Given the description of an element on the screen output the (x, y) to click on. 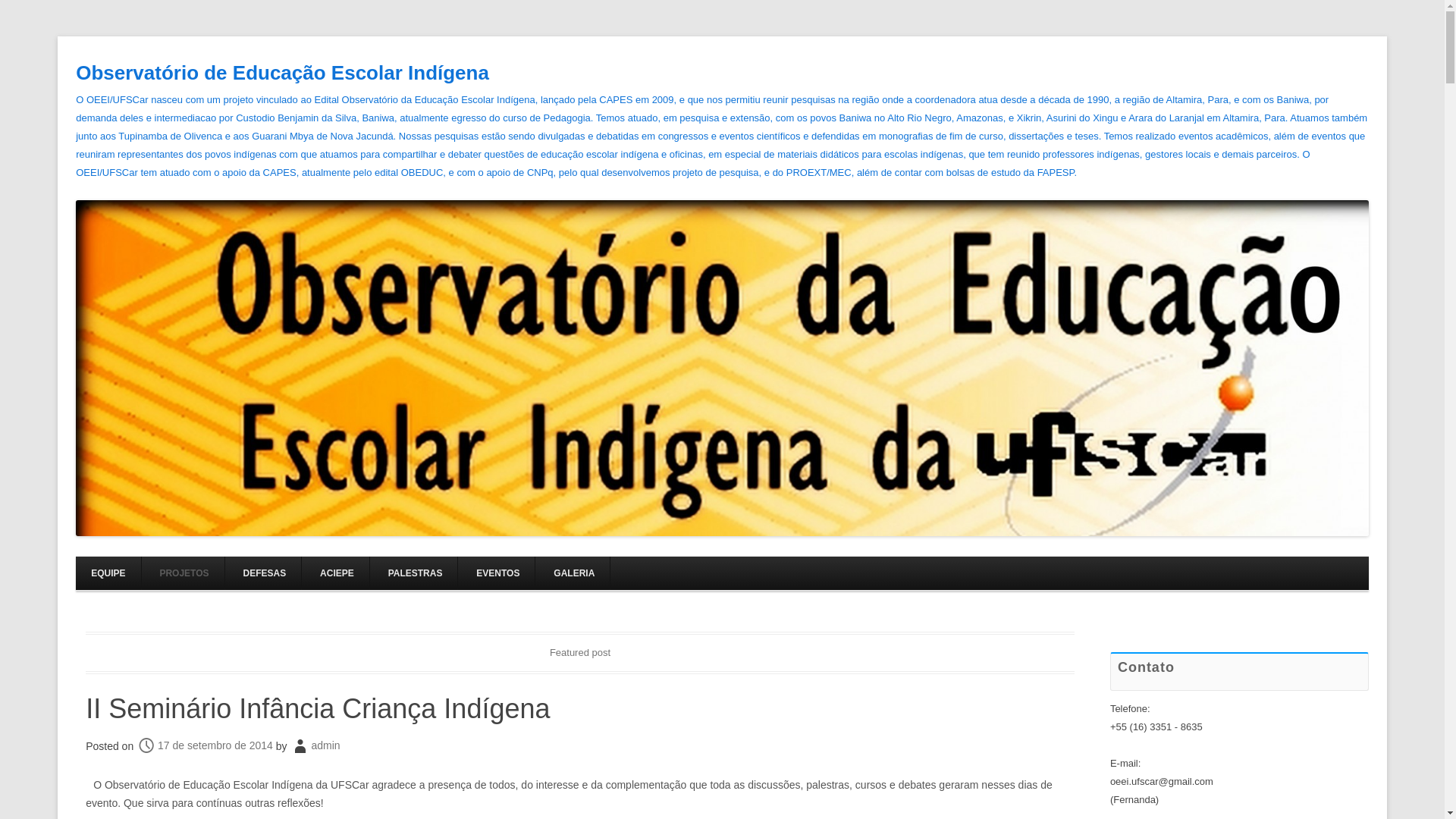
17 de setembro de 2014 Element type: text (204, 745)
Skip to content Element type: text (756, 560)
PALESTRAS Element type: text (415, 572)
EQUIPE Element type: text (107, 572)
EVENTOS Element type: text (497, 572)
PROJETOS Element type: text (183, 572)
DEFESAS Element type: text (264, 572)
ACIEPE Element type: text (336, 572)
admin Element type: text (324, 745)
GALERIA Element type: text (573, 572)
